Given the description of an element on the screen output the (x, y) to click on. 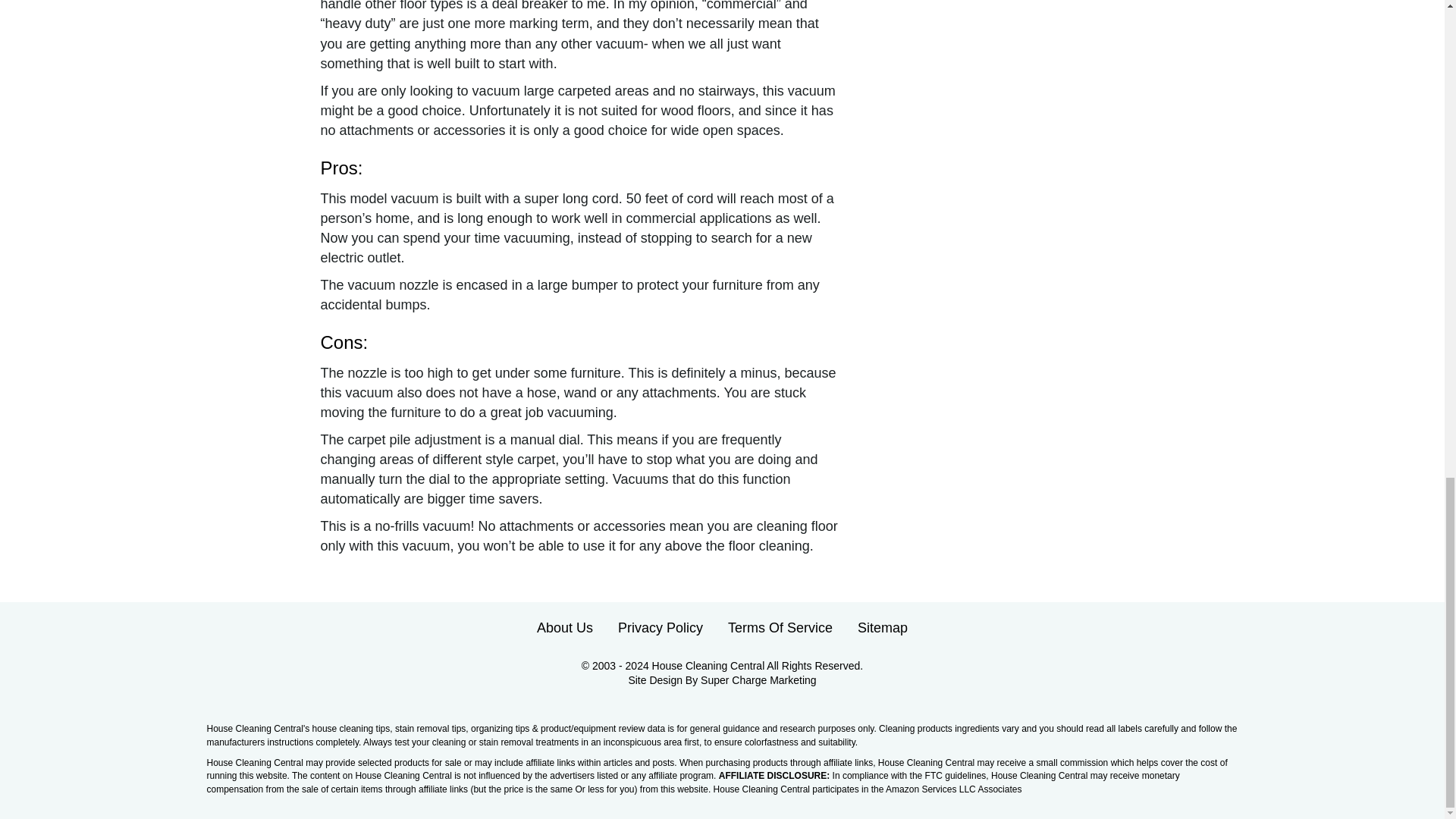
Privacy Policy (659, 627)
About Us (564, 627)
